Given the description of an element on the screen output the (x, y) to click on. 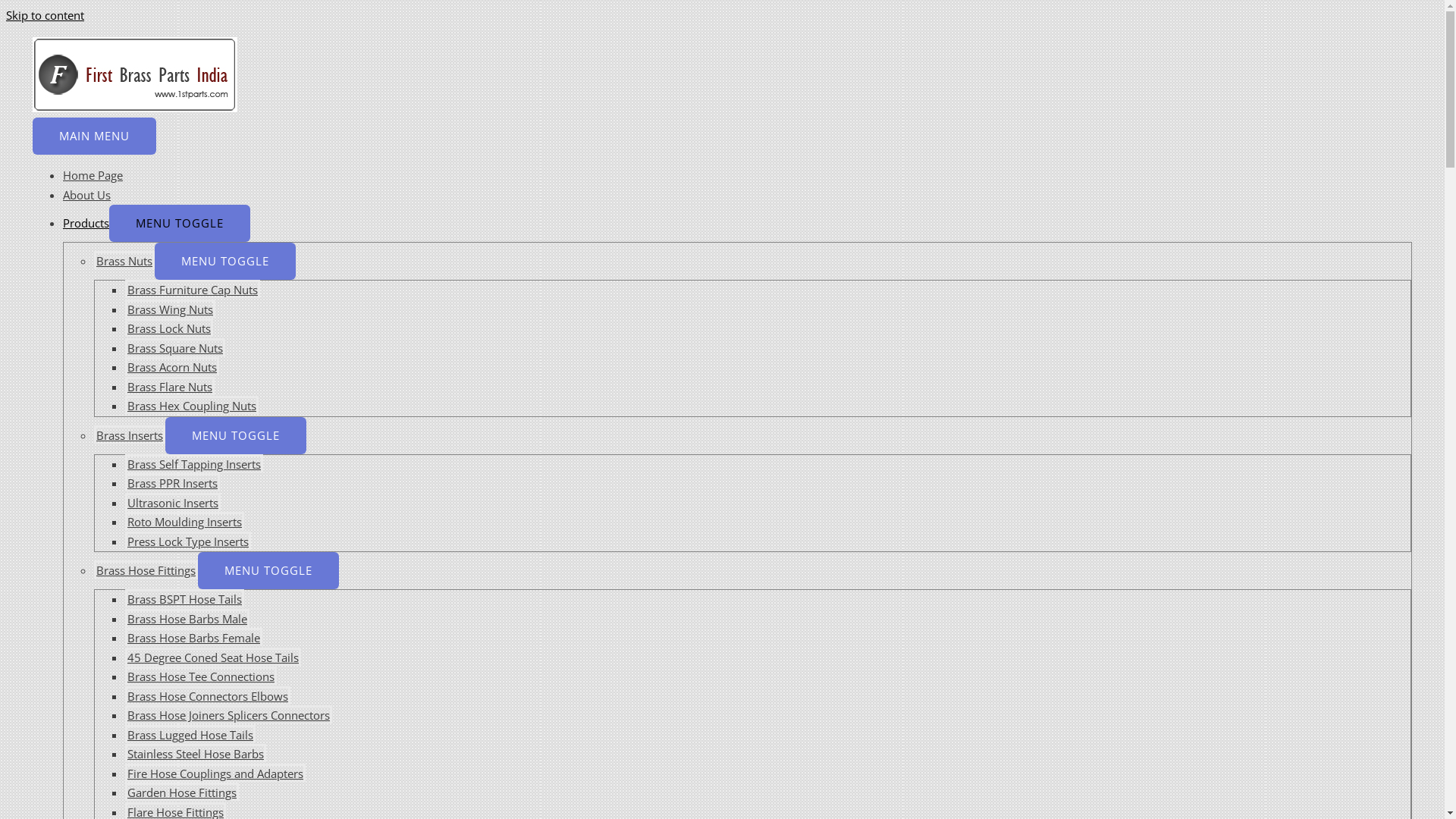
Brass Hose Barbs Male Element type: text (187, 617)
Brass Acorn Nuts Element type: text (172, 366)
Brass Hose Connectors Elbows Element type: text (207, 694)
Brass Inserts Element type: text (129, 433)
Brass Wing Nuts Element type: text (170, 307)
Brass Hose Fittings Element type: text (145, 569)
Brass PPR Inserts Element type: text (172, 482)
Fire Hose Couplings and Adapters Element type: text (215, 771)
Brass Furniture Cap Nuts Element type: text (192, 288)
Brass Hose Joiners Splicers Connectors Element type: text (228, 714)
Brass Hose Barbs Female Element type: text (193, 636)
Press Lock Type Inserts Element type: text (188, 539)
Garden Hose Fittings Element type: text (181, 791)
Skip to content Element type: text (45, 14)
Brass Nuts Element type: text (124, 260)
Products Element type: text (85, 222)
Brass Hex Coupling Nuts Element type: text (191, 404)
Brass Square Nuts Element type: text (175, 347)
MENU TOGGLE Element type: text (224, 260)
Stainless Steel Hose Barbs Element type: text (195, 752)
Home Page Element type: text (92, 174)
MENU TOGGLE Element type: text (235, 435)
MENU TOGGLE Element type: text (179, 222)
45 Degree Coned Seat Hose Tails Element type: text (213, 656)
Brass Hose Tee Connections Element type: text (200, 675)
Brass Self Tapping Inserts Element type: text (194, 462)
Brass BSPT Hose Tails Element type: text (184, 598)
About Us Element type: text (86, 193)
Roto Moulding Inserts Element type: text (184, 520)
Brass Flare Nuts Element type: text (169, 385)
MAIN MENU Element type: text (94, 135)
MENU TOGGLE Element type: text (267, 570)
Brass Lugged Hose Tails Element type: text (190, 733)
Ultrasonic Inserts Element type: text (172, 501)
Brass Lock Nuts Element type: text (169, 327)
